Given the description of an element on the screen output the (x, y) to click on. 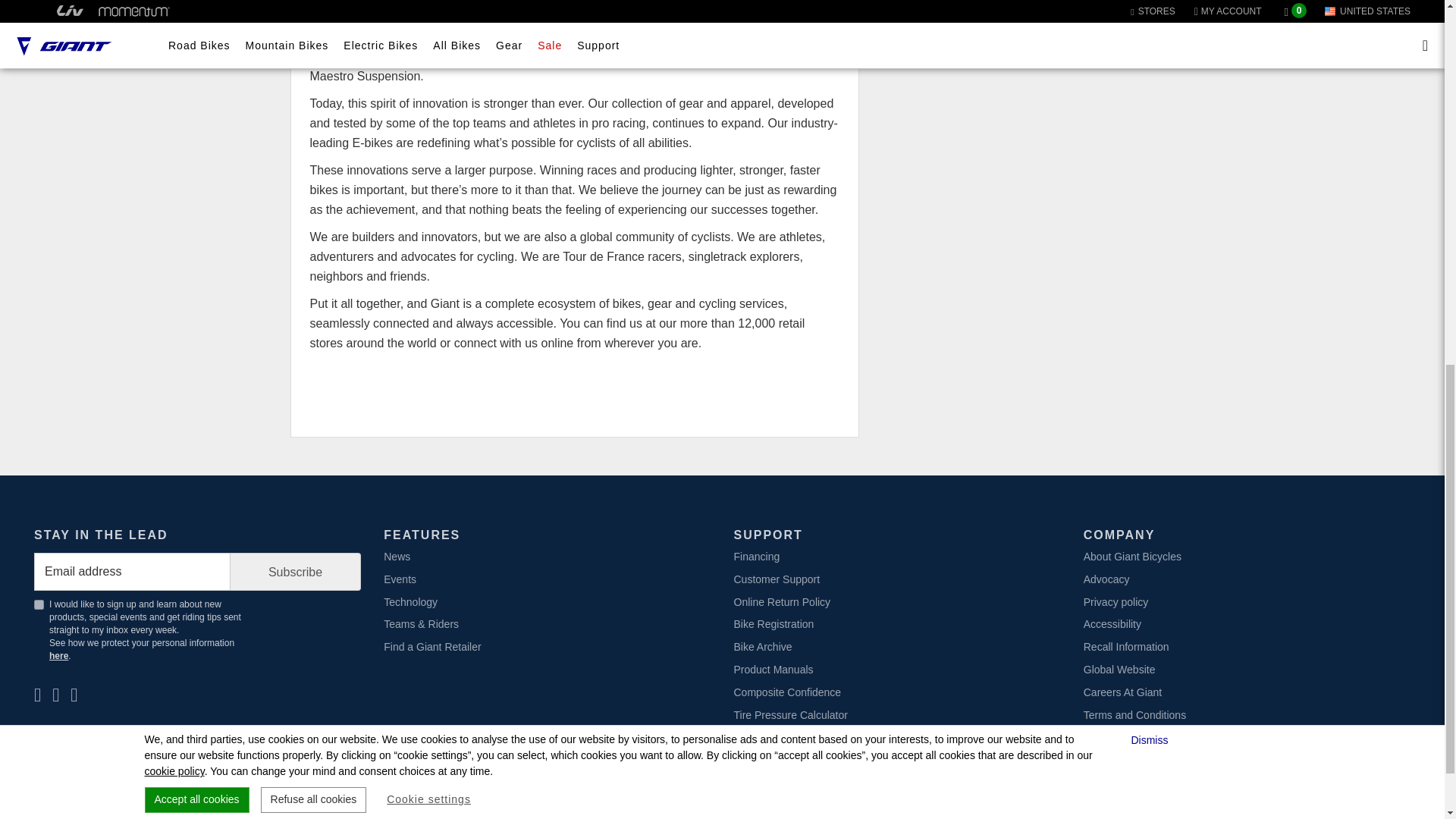
Cookie settings (428, 91)
cookie policy (173, 62)
Refuse all cookies (313, 91)
on (38, 604)
Accept all cookies (196, 91)
Dismiss (1150, 31)
